Given the description of an element on the screen output the (x, y) to click on. 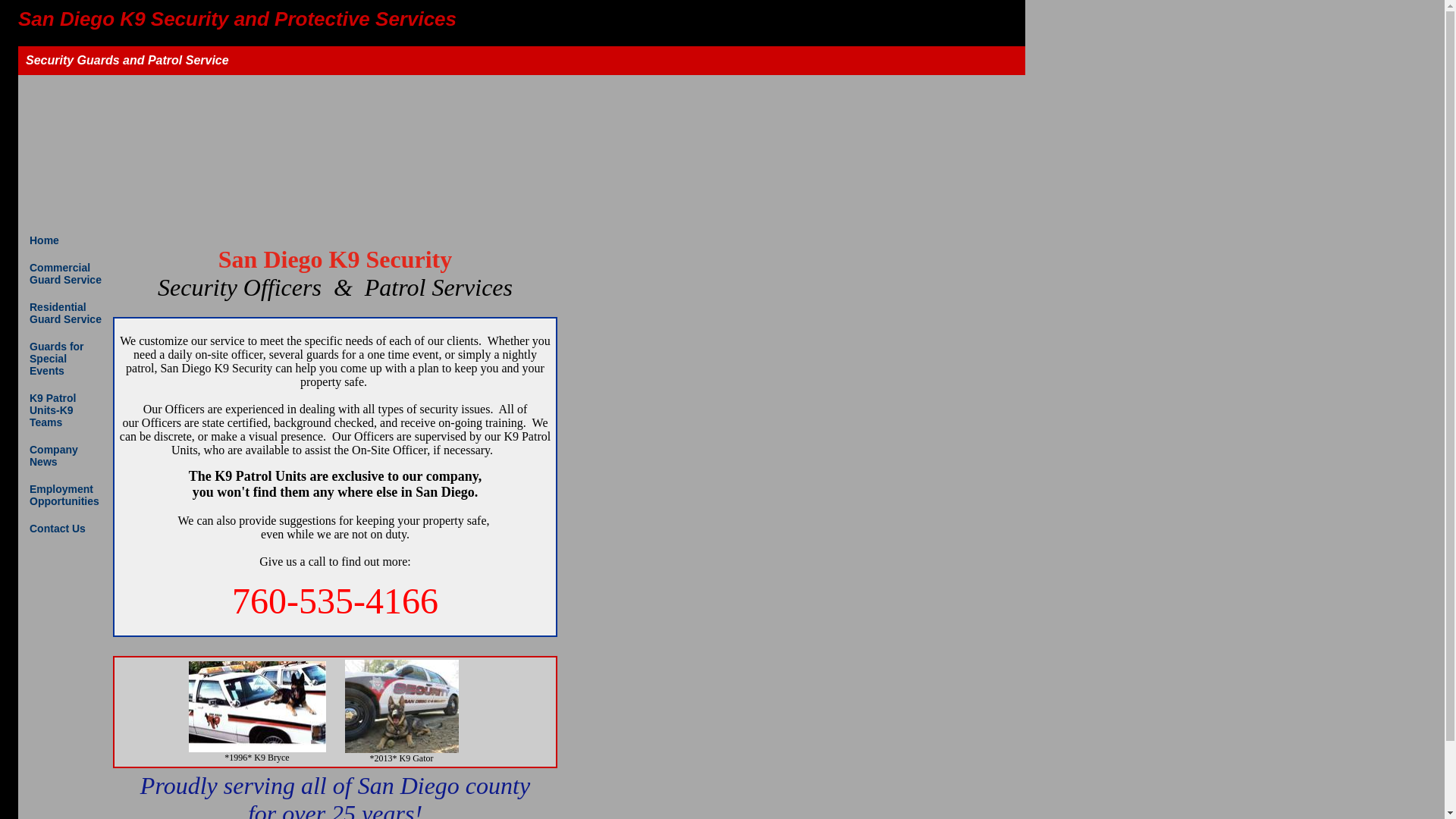
Home (63, 239)
K9 Patrol Units-K9 Teams (63, 409)
Residential Guard Service (63, 312)
Company News (63, 455)
Contact Us (63, 528)
Employment Opportunities (63, 495)
Guards for Special Events (63, 358)
Commercial Guard Service (63, 273)
